Given the description of an element on the screen output the (x, y) to click on. 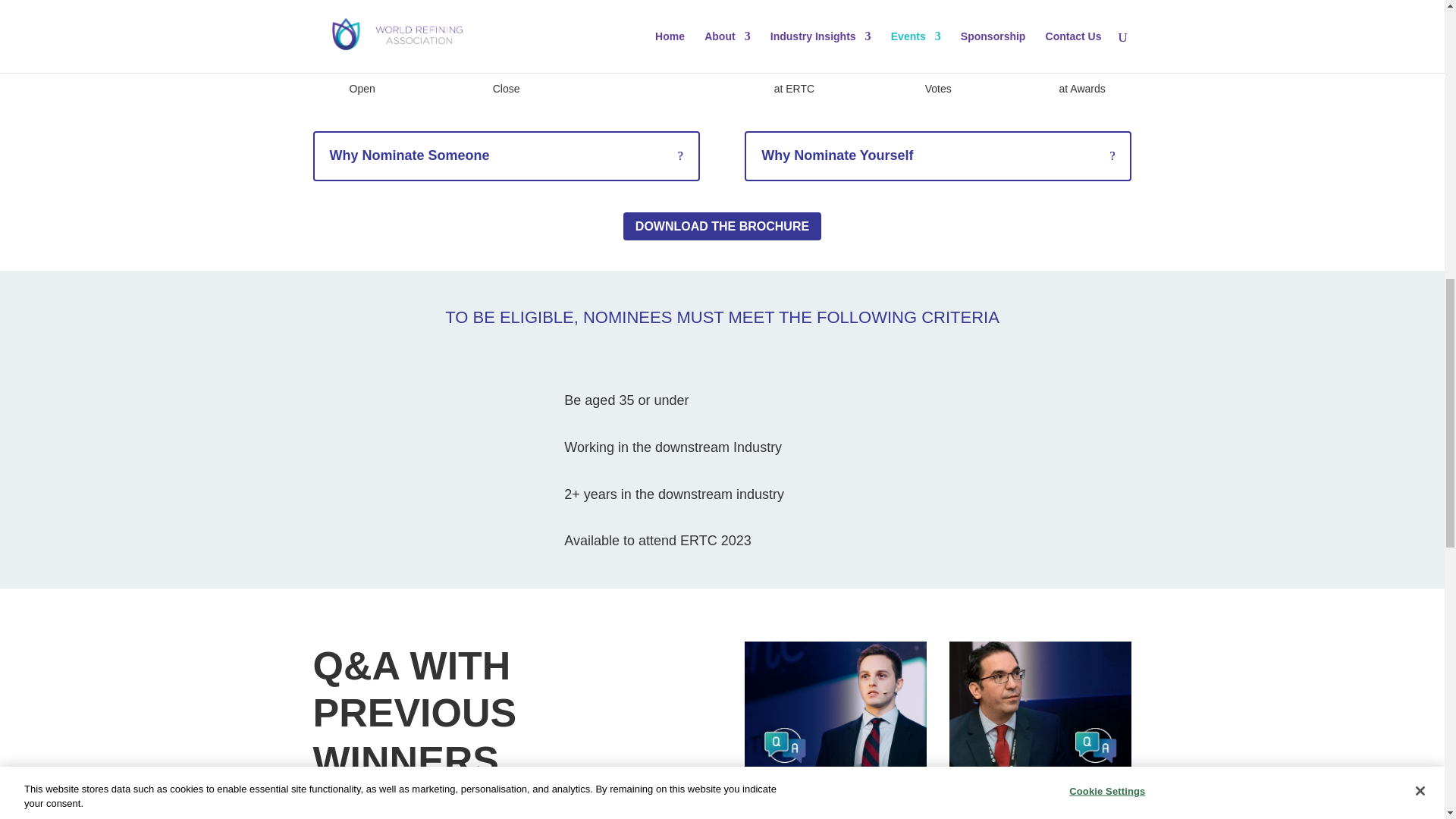
DOWNLOAD THE BROCHURE (722, 226)
